Given the description of an element on the screen output the (x, y) to click on. 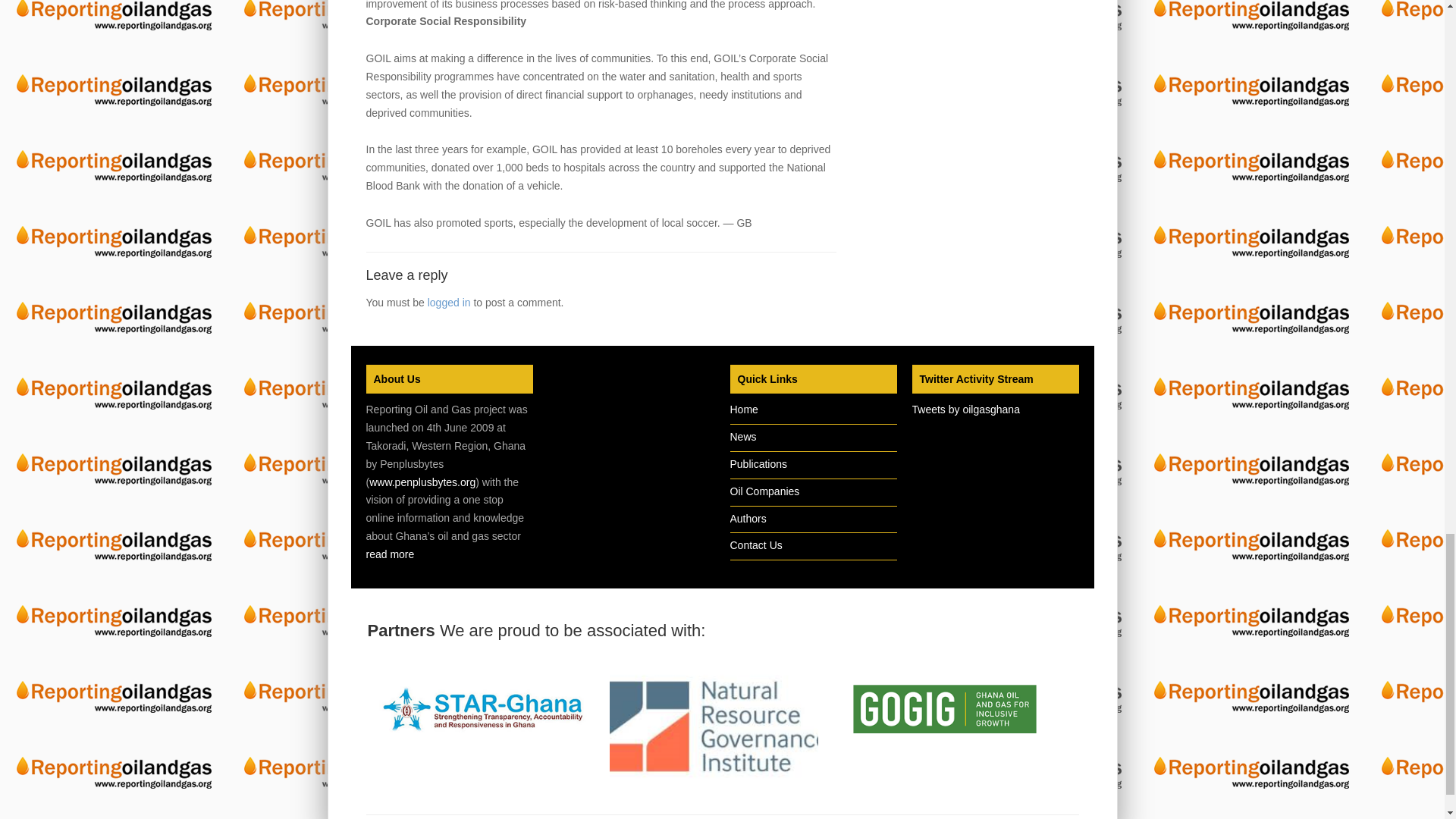
Home (743, 409)
read more (389, 553)
logged in (449, 302)
Authors (747, 518)
www.penplusbytes.org (422, 481)
Tweets by oilgasghana (965, 409)
Oil Companies (764, 491)
News (742, 436)
Contact Us (755, 544)
Publications (758, 463)
